Given the description of an element on the screen output the (x, y) to click on. 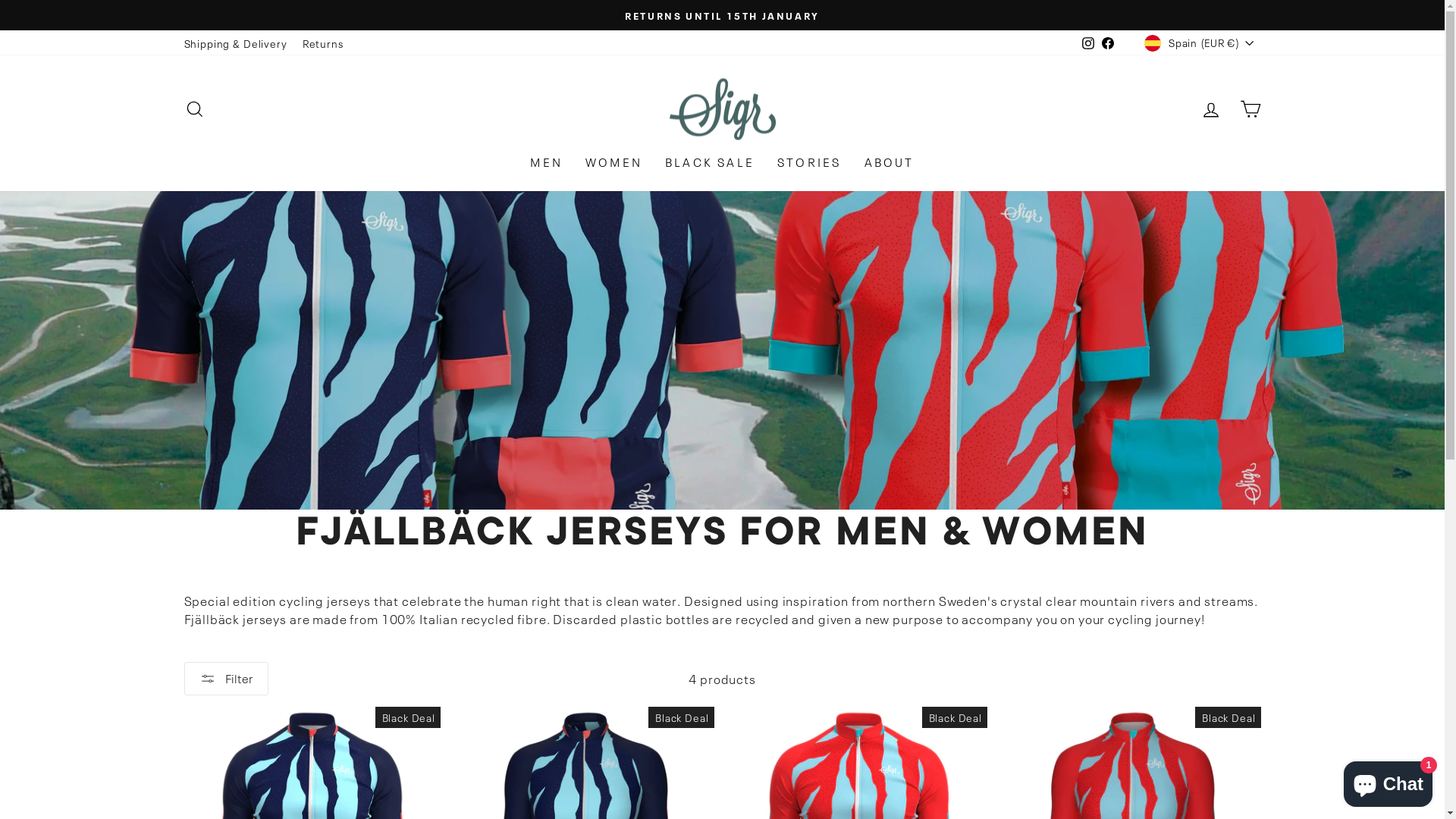
Facebook Element type: text (1107, 42)
Filter Element type: text (226, 678)
ABOUT Element type: text (888, 161)
BLACK SALE Element type: text (709, 161)
Home Element type: text (683, 497)
LOG IN Element type: text (1210, 108)
Returns Element type: text (322, 42)
Instagram Element type: text (1088, 42)
WOMEN Element type: text (613, 161)
BLACK SALE ON NOWSHOP NOW Element type: text (722, 14)
CART Element type: text (1249, 108)
SEARCH Element type: text (193, 108)
Shopify online store chat Element type: hover (1388, 780)
STORIES Element type: text (808, 161)
MEN Element type: text (546, 161)
Shipping & Delivery Element type: text (234, 42)
Collections Element type: text (738, 497)
